Given the description of an element on the screen output the (x, y) to click on. 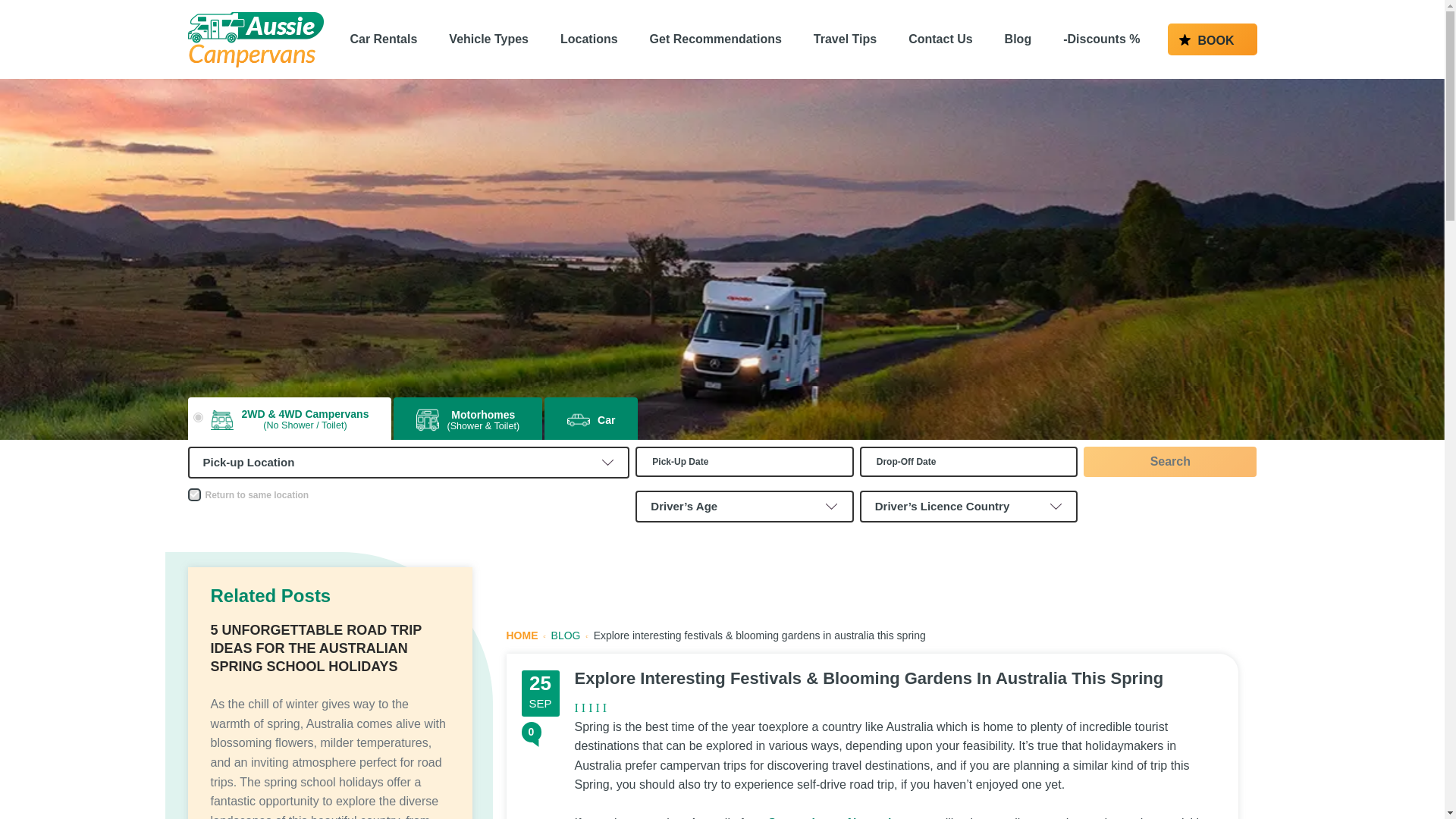
Search (1169, 461)
campervan (197, 417)
Pick-up Location (408, 462)
